Given the description of an element on the screen output the (x, y) to click on. 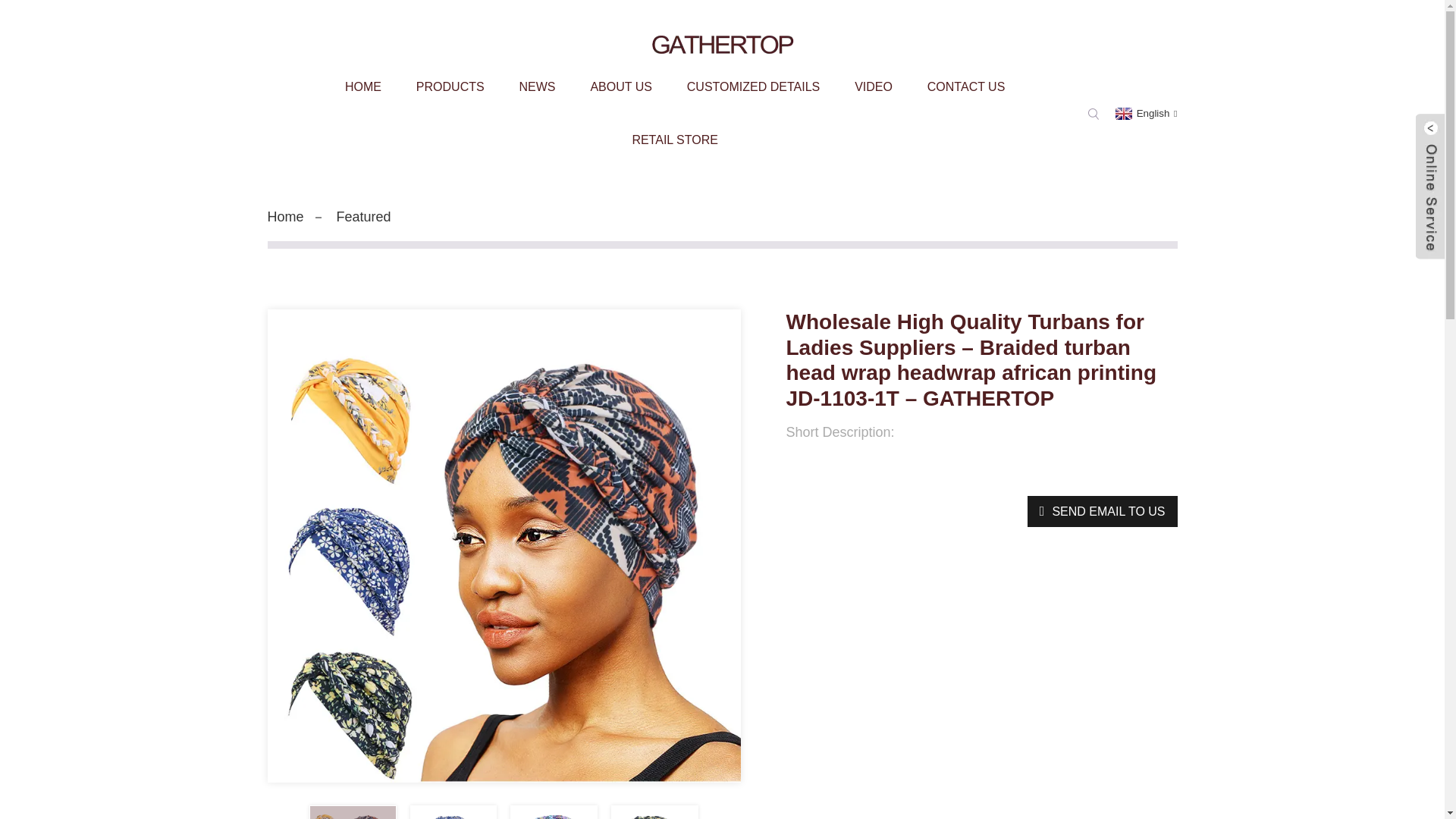
PRODUCTS (450, 86)
RETAIL STORE (674, 140)
Featured (363, 216)
VIDEO (873, 86)
HOME (363, 86)
NEWS (537, 86)
CUSTOMIZED DETAILS (753, 86)
Featured (363, 216)
English (1144, 112)
Home (284, 216)
